Given the description of an element on the screen output the (x, y) to click on. 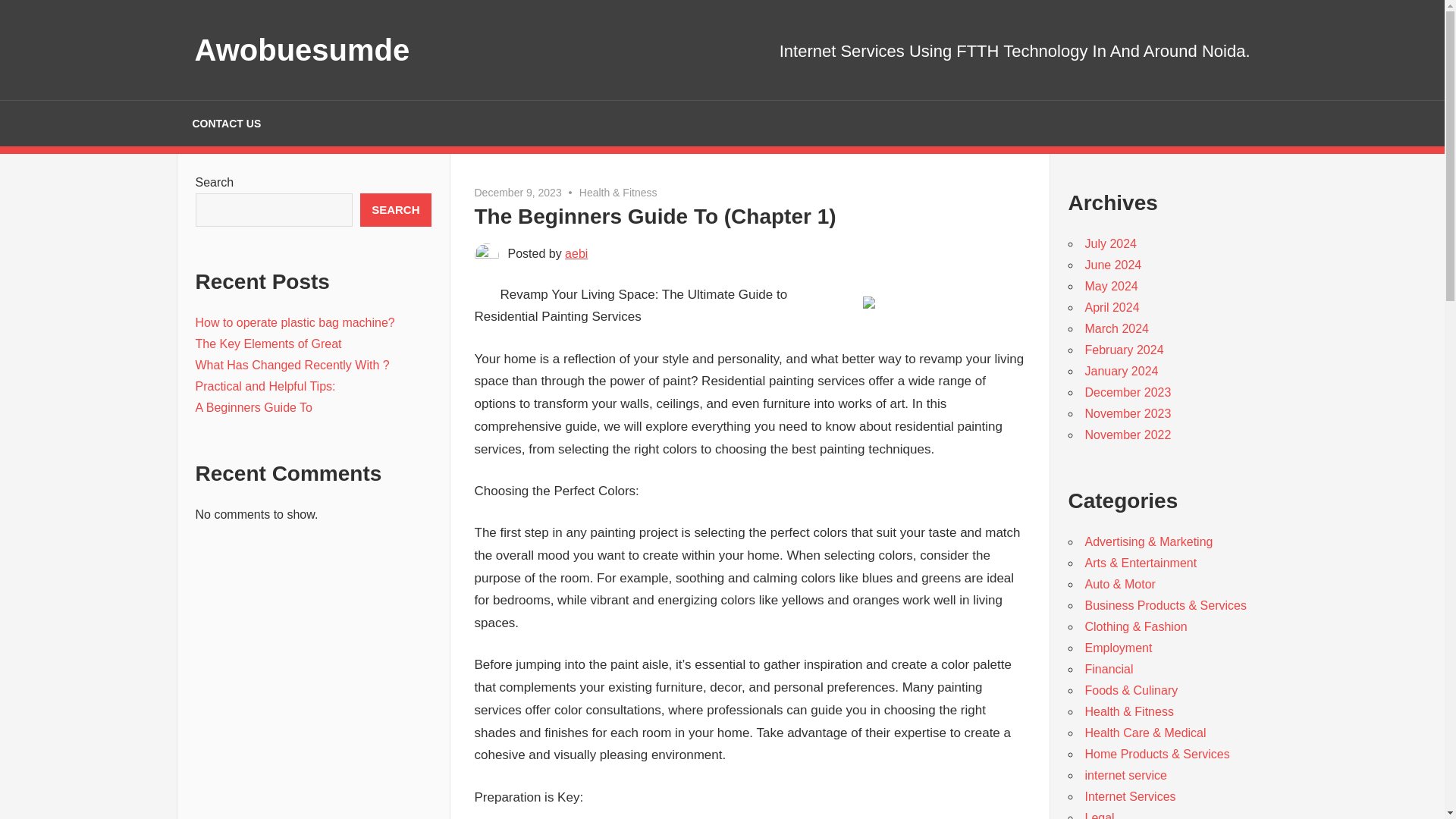
What Has Changed Recently With ? (292, 364)
June 2024 (1112, 264)
December 9, 2023 (518, 192)
A Beginners Guide To (254, 407)
Practical and Helpful Tips: (265, 386)
internet service (1125, 775)
View all posts by aebi (576, 253)
January 2024 (1120, 370)
The Key Elements of Great (268, 343)
February 2024 (1123, 349)
December 2023 (1127, 391)
aebi (576, 253)
CONTACT US (226, 123)
Awobuesumde (301, 49)
March 2024 (1116, 328)
